Given the description of an element on the screen output the (x, y) to click on. 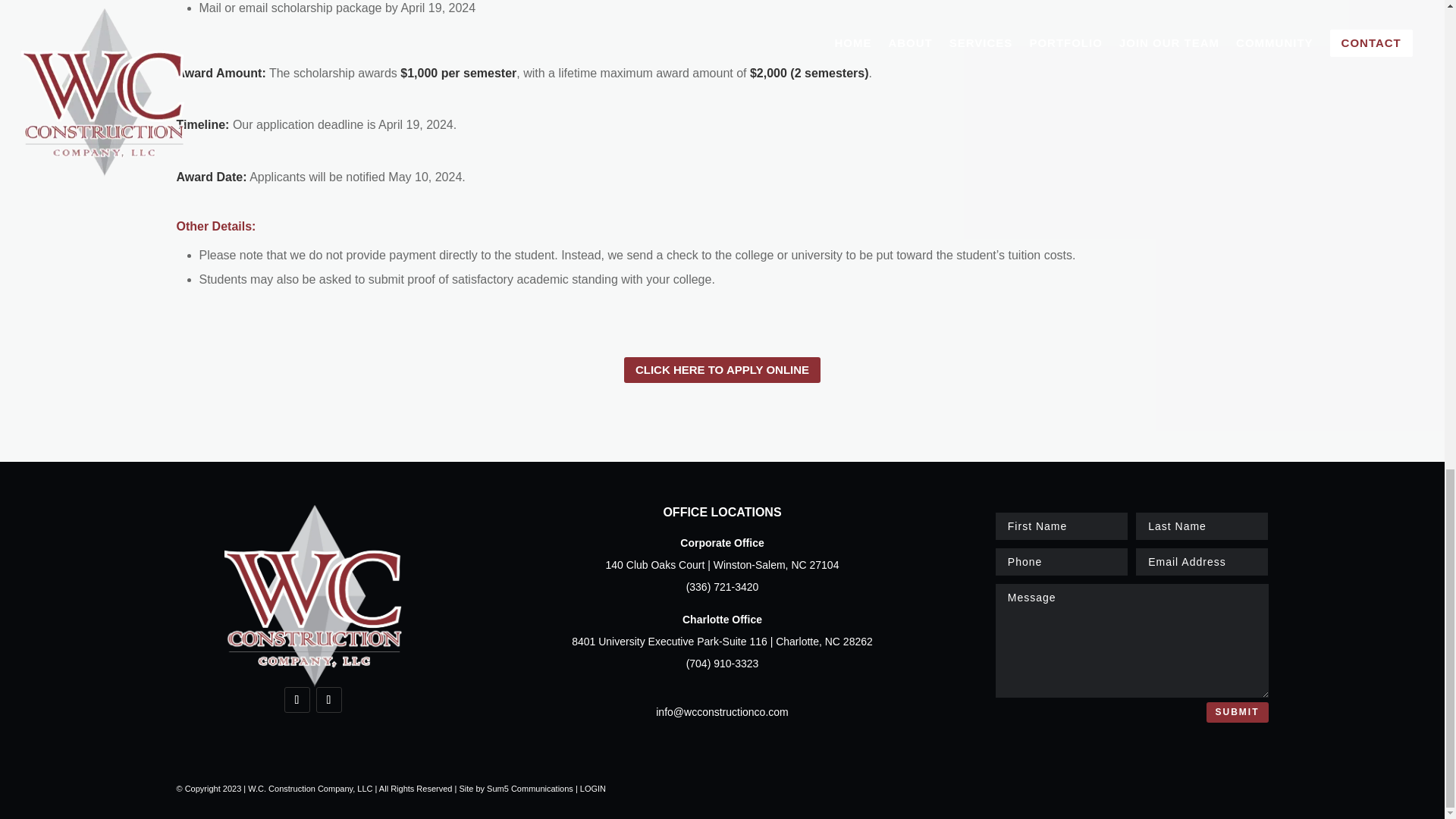
SUBMIT (1236, 712)
Follow on LinkedIn (295, 699)
Sum5 Communications (529, 788)
LOGIN (592, 788)
wclogo (312, 596)
Follow on Google (327, 699)
CLICK HERE TO APPLY ONLINE (722, 370)
